Given the description of an element on the screen output the (x, y) to click on. 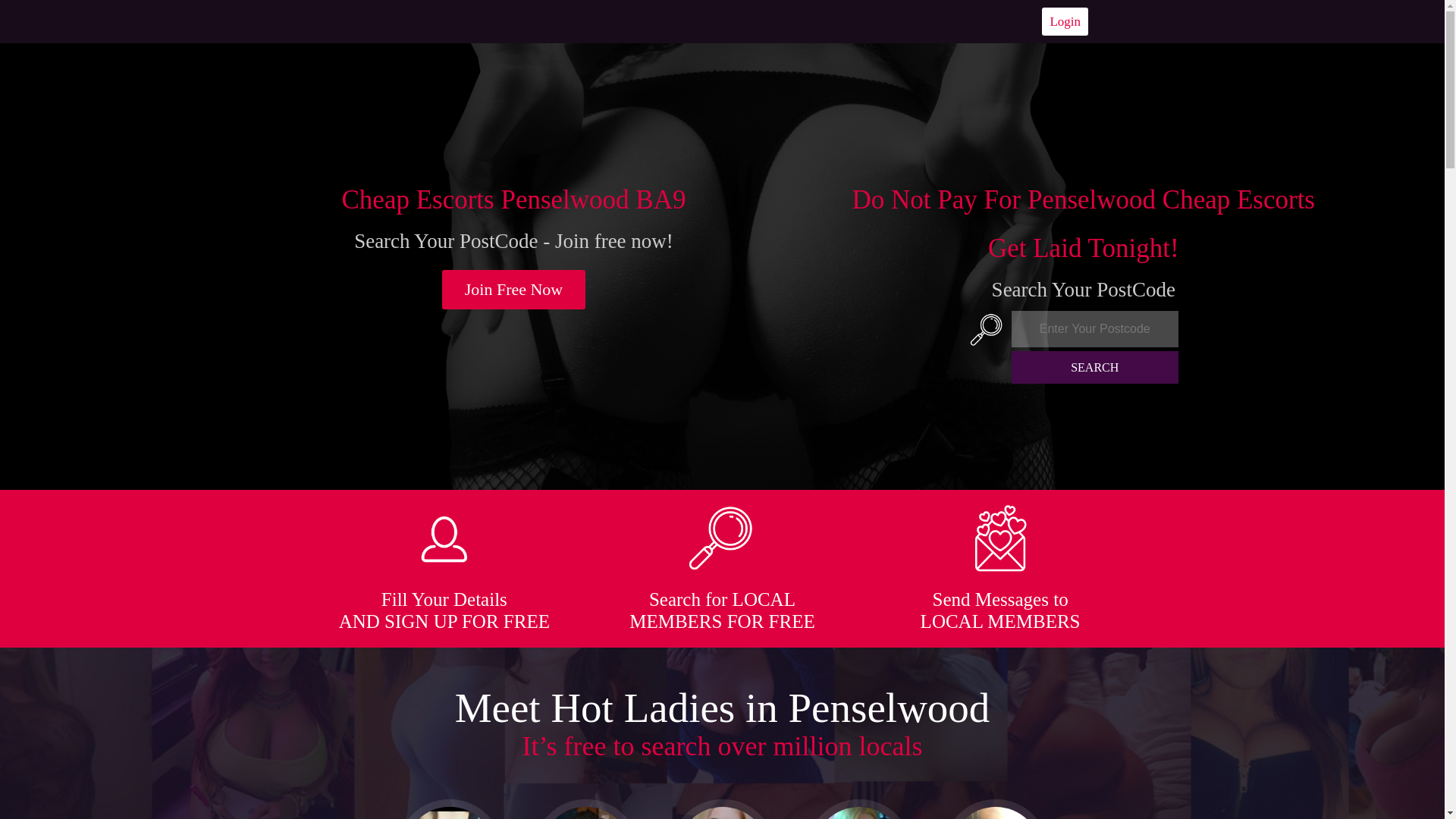
Login (1064, 21)
Join (514, 289)
Join Free Now (514, 289)
Login (1064, 21)
SEARCH (1094, 367)
